Given the description of an element on the screen output the (x, y) to click on. 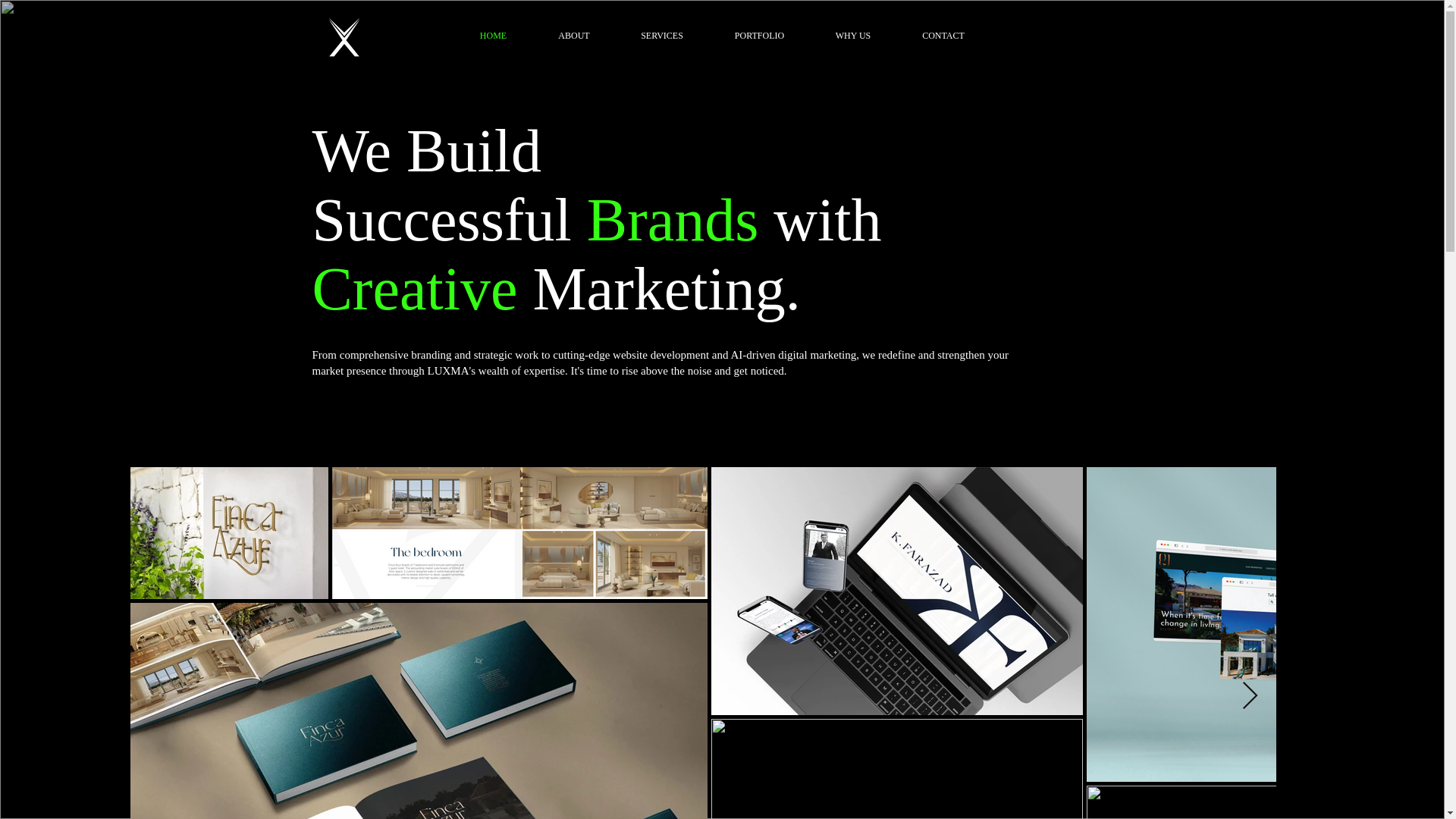
CONTACT (943, 35)
HOME (492, 35)
SERVICES (662, 35)
WHY US (852, 35)
PORTFOLIO (758, 35)
ABOUT (573, 35)
